Given the description of an element on the screen output the (x, y) to click on. 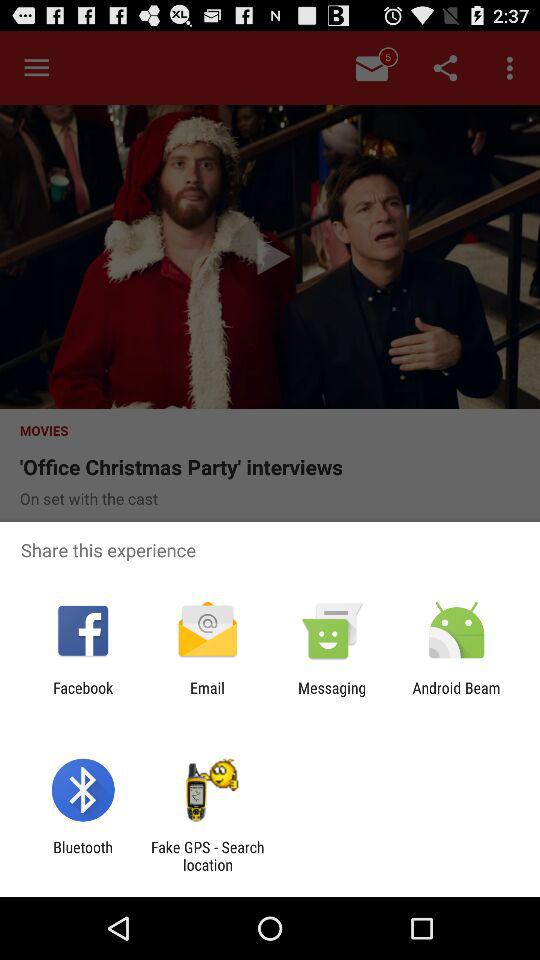
select the item to the left of messaging (207, 696)
